Given the description of an element on the screen output the (x, y) to click on. 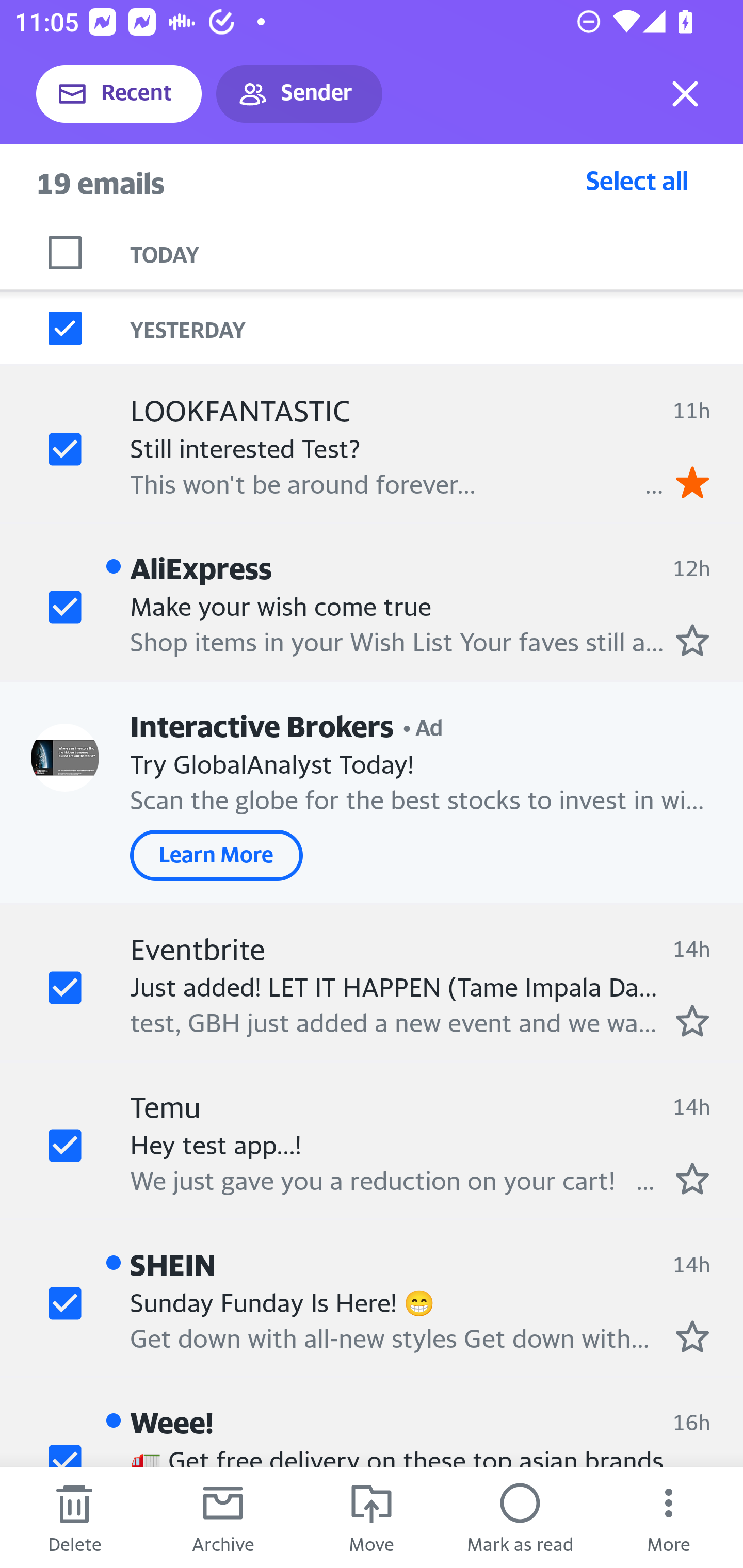
Sender (299, 93)
Exit selection mode (684, 93)
Select all (637, 180)
YESTERDAY (436, 328)
Remove star. (692, 482)
Mark as starred. (692, 640)
Mark as starred. (692, 1019)
Mark as starred. (692, 1178)
Mark as starred. (692, 1336)
Delete (74, 1517)
Archive (222, 1517)
Move (371, 1517)
Mark as read (519, 1517)
More (668, 1517)
